Given the description of an element on the screen output the (x, y) to click on. 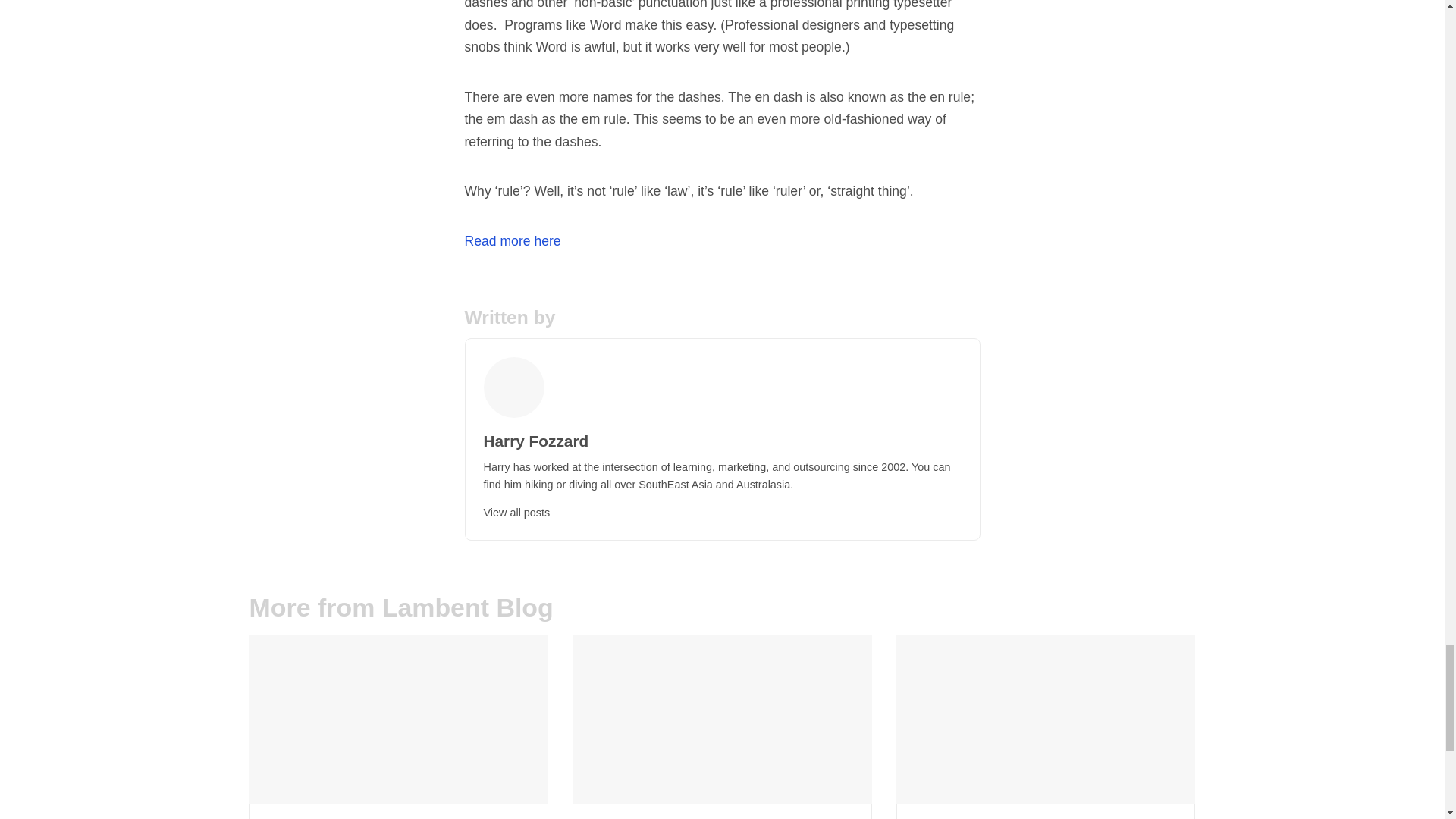
Harry Fozzard (536, 440)
Read more here (512, 241)
Website (652, 440)
Twitter (633, 440)
